Given the description of an element on the screen output the (x, y) to click on. 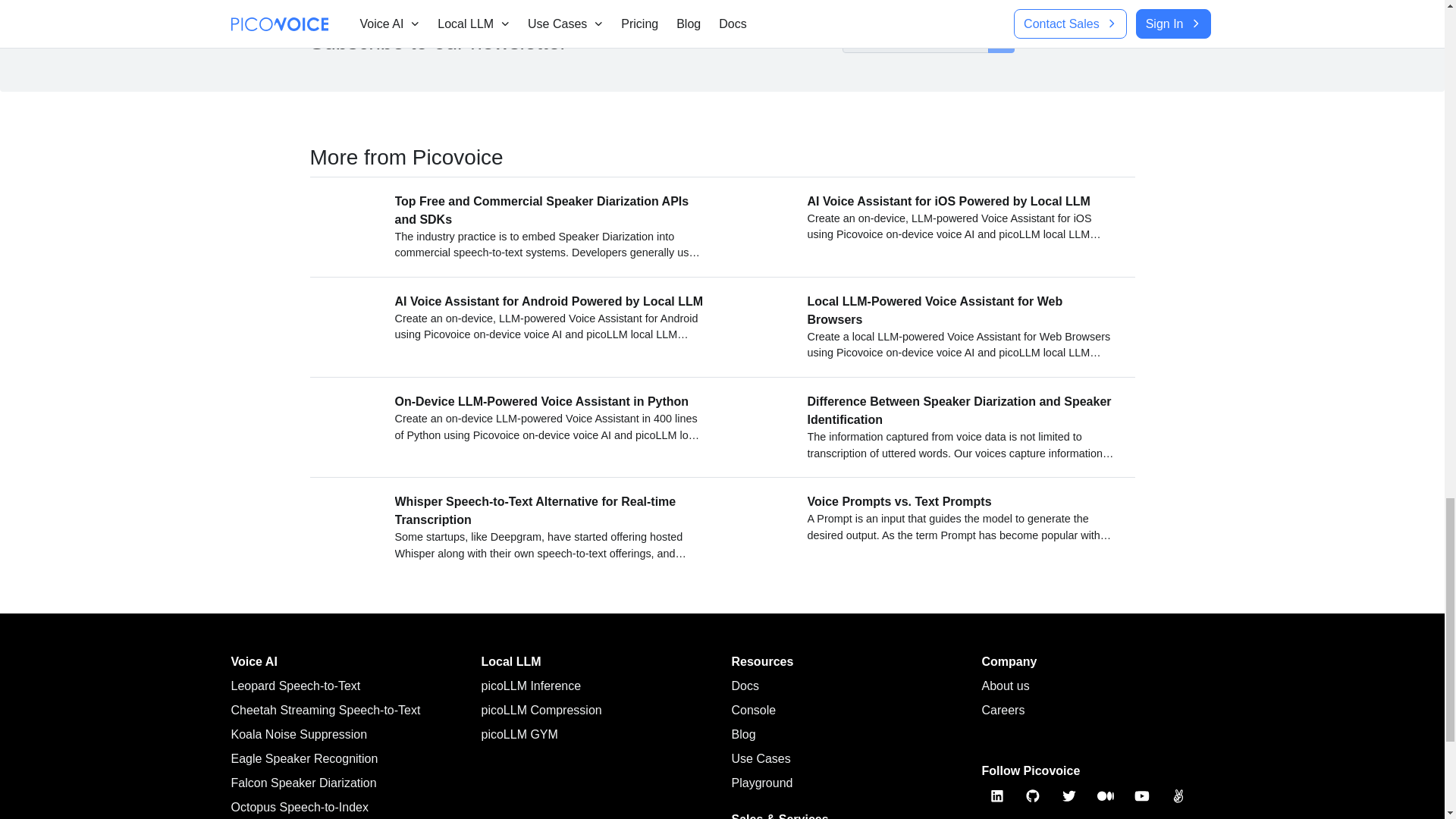
Medium (1105, 795)
YouTube (1142, 795)
Twitter (1069, 795)
AngelList (1178, 795)
GitHub (1033, 795)
LinkedIn (997, 795)
